Given the description of an element on the screen output the (x, y) to click on. 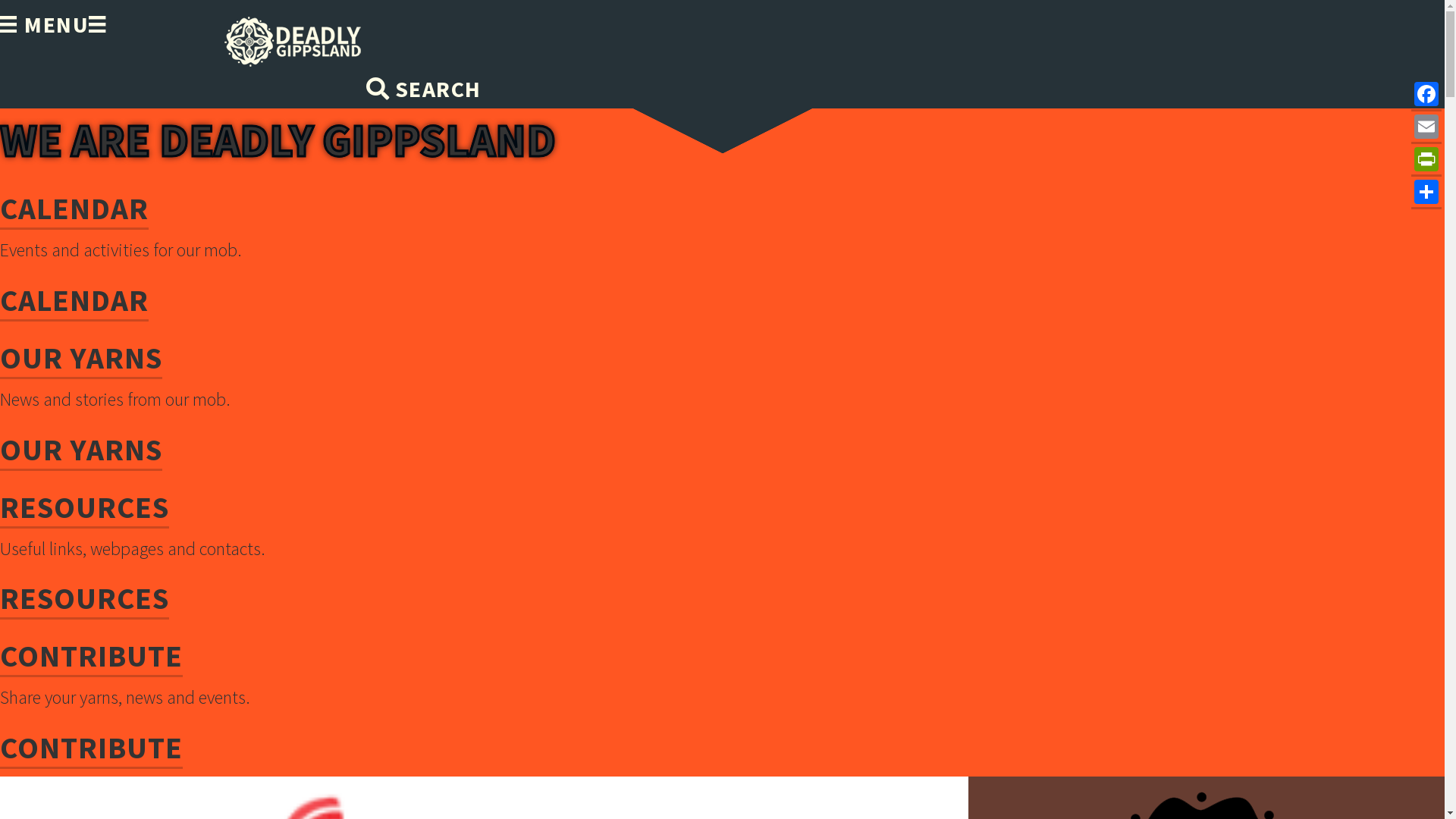
RESOURCES Element type: text (84, 508)
MENU Element type: text (44, 23)
OUR YARNS Element type: text (81, 358)
Deadly Gippsland Horizontal Logo Yellow Element type: hover (293, 41)
Share Element type: text (1426, 192)
CONTRIBUTE Element type: text (91, 657)
Email Element type: text (1426, 127)
CONTRIBUTE Element type: text (91, 748)
CALENDAR Element type: text (74, 209)
OUR YARNS Element type: text (81, 450)
PrintFriendly Element type: text (1426, 160)
RESOURCES Element type: text (84, 599)
CALENDAR Element type: text (74, 301)
Facebook Element type: text (1426, 94)
